Given the description of an element on the screen output the (x, y) to click on. 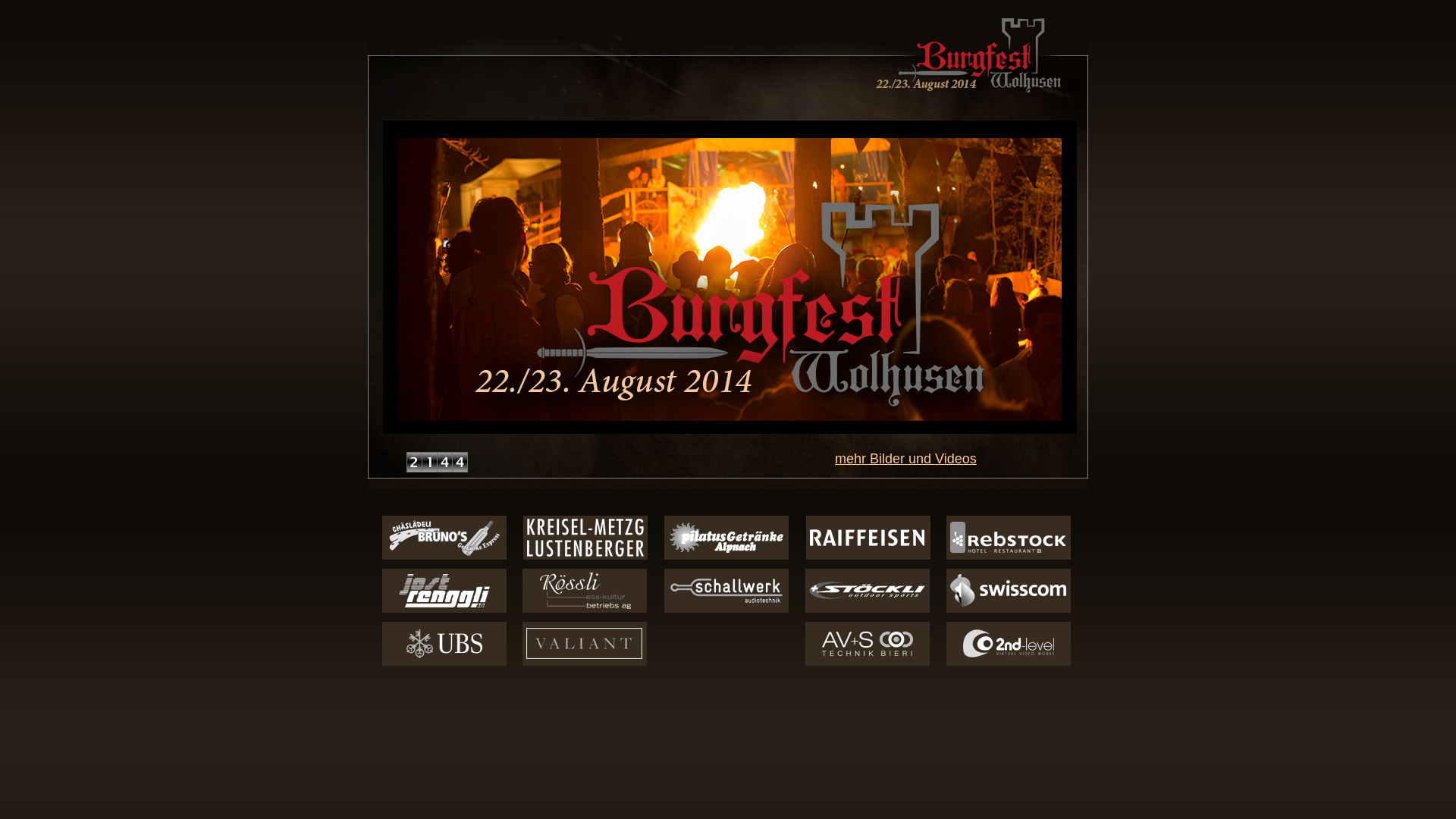
UBS Wolhusen Element type: hover (444, 654)
Raiffeisen Wolhusen Element type: hover (866, 542)
2nd-level VIRTUAL VIDEO WORKS Ruswil Element type: hover (1008, 657)
Swisscom Element type: hover (1008, 603)
Jost Renggli AG Wolhusen Element type: hover (443, 604)
Restaurant Rebstock Wolhusen Element type: hover (1008, 549)
Frontbild-neu.png Element type: hover (729, 417)
Schallwerk Audiotechnik GmbH Wolhusen Element type: hover (726, 599)
mehr Bilder und Videos Element type: text (905, 458)
Valiant Wolhusen Element type: hover (584, 655)
Kreisel Metzg Lustenberger Wolhusen Element type: hover (585, 553)
